Given the description of an element on the screen output the (x, y) to click on. 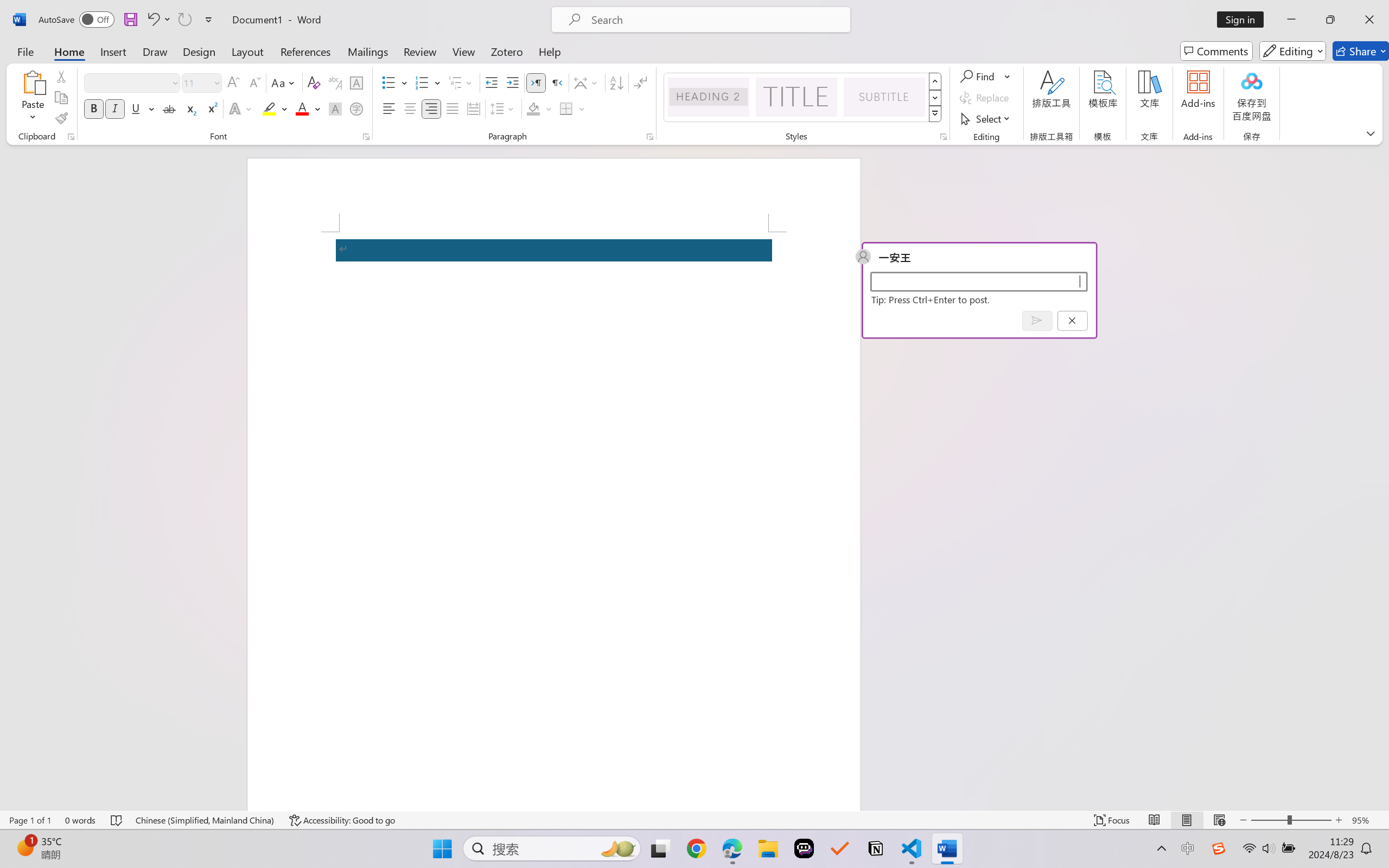
Cancel (1072, 320)
Post comment (Ctrl + Enter) (1036, 320)
